Given the description of an element on the screen output the (x, y) to click on. 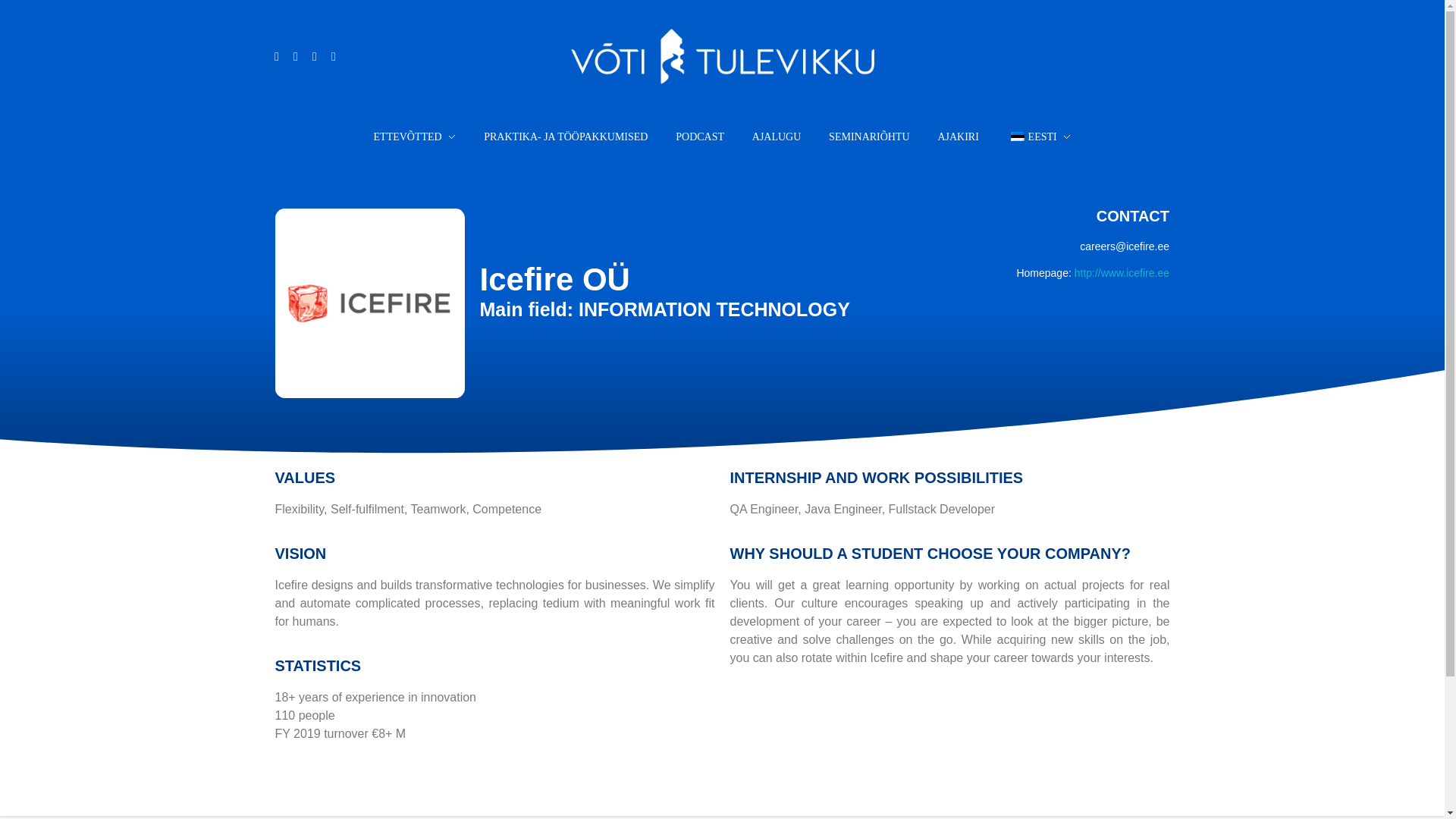
PODCAST (700, 135)
AJALUGU (775, 135)
EESTI (1031, 135)
AJAKIRI (957, 135)
Eesti (1017, 135)
